Given the description of an element on the screen output the (x, y) to click on. 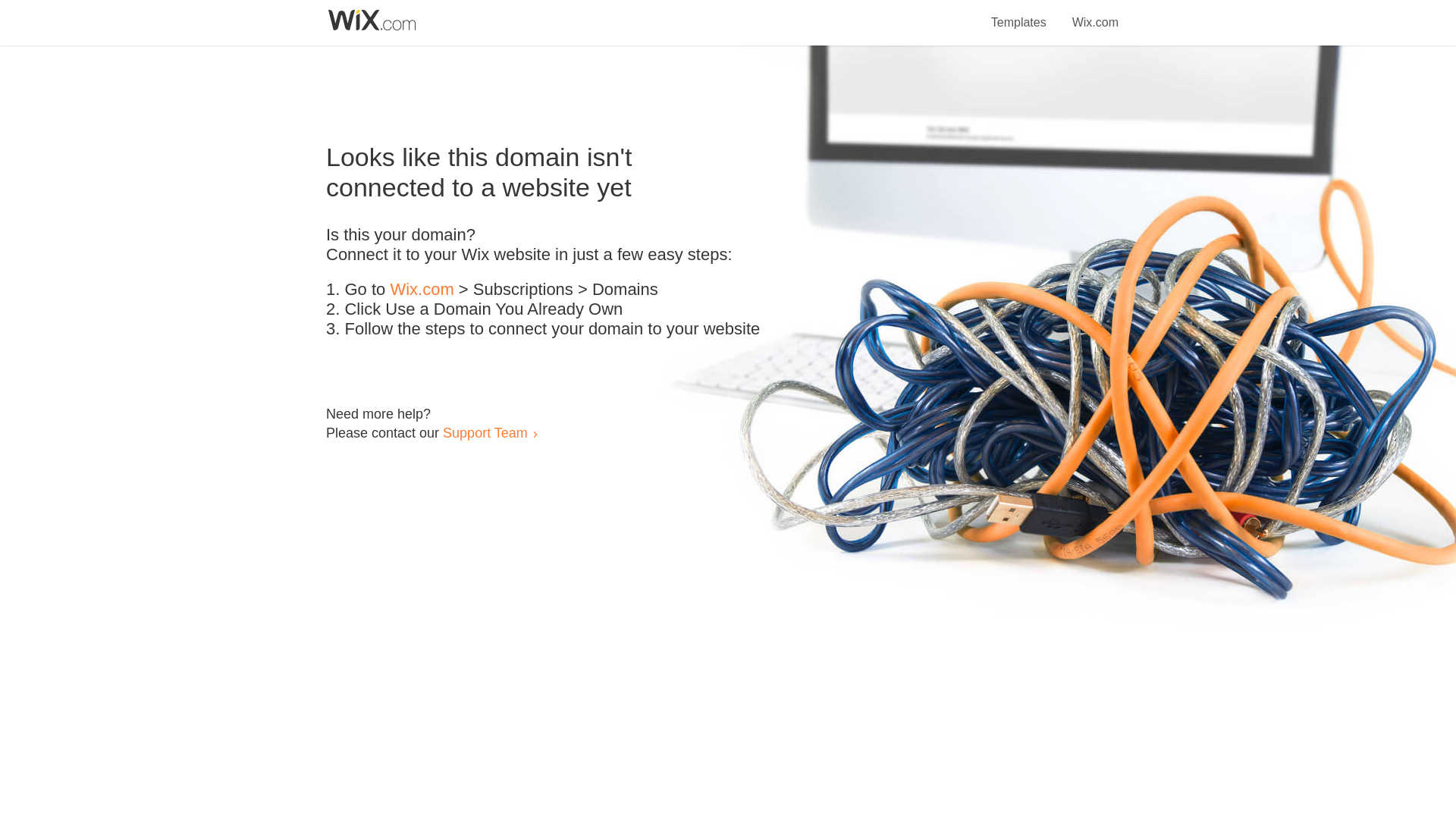
Wix.com (1095, 14)
Support Team (484, 432)
Templates (1018, 14)
Wix.com (421, 289)
